Given the description of an element on the screen output the (x, y) to click on. 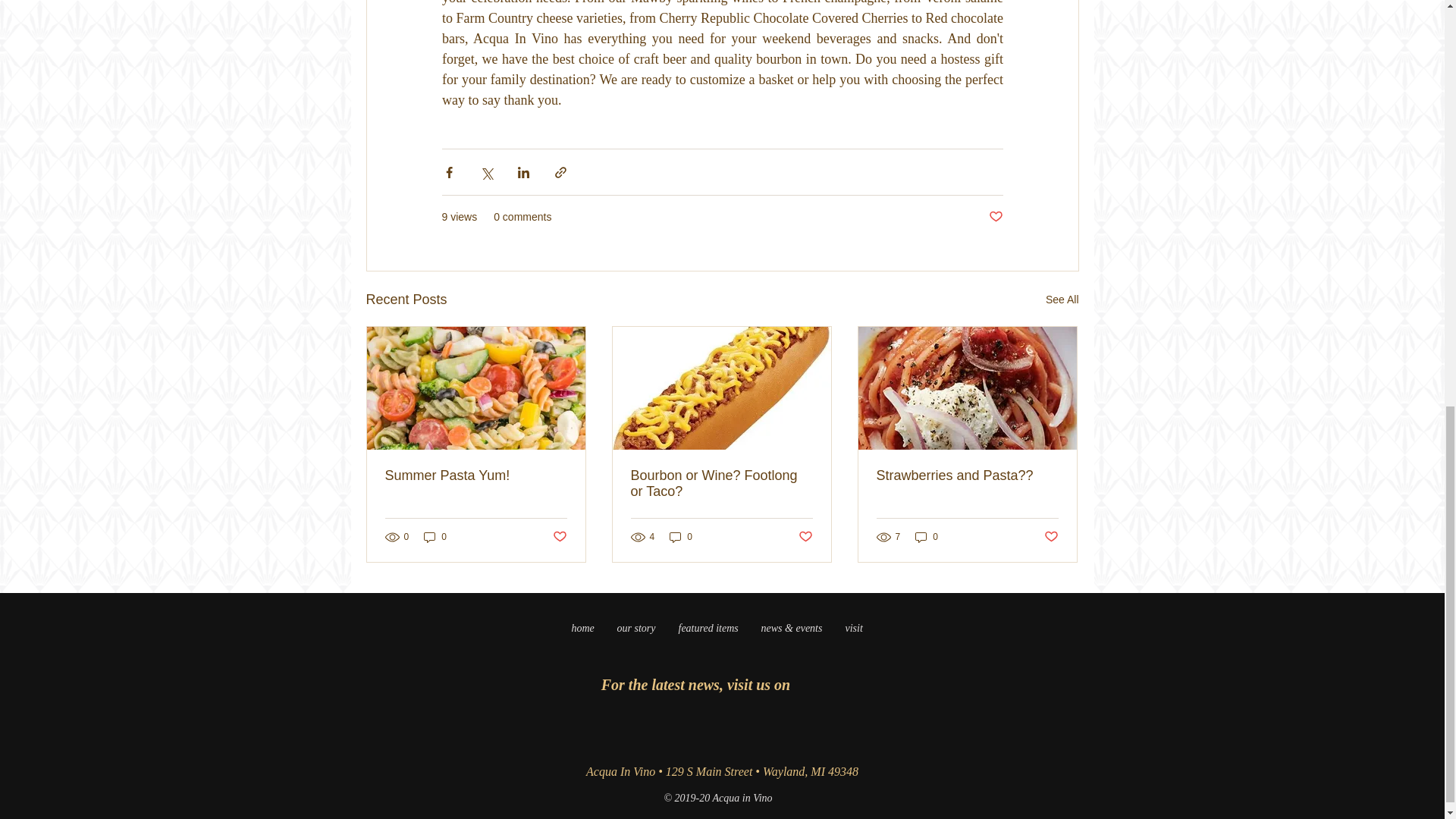
Bourbon or Wine? Footlong or Taco? (721, 483)
Post not marked as liked (995, 217)
0 (926, 536)
Post not marked as liked (558, 537)
0 (435, 536)
our story (635, 628)
Post not marked as liked (804, 537)
0 (681, 536)
home (582, 628)
Strawberries and Pasta?? (967, 475)
Summer Pasta Yum! (476, 475)
See All (1061, 300)
Post not marked as liked (1050, 537)
